Given the description of an element on the screen output the (x, y) to click on. 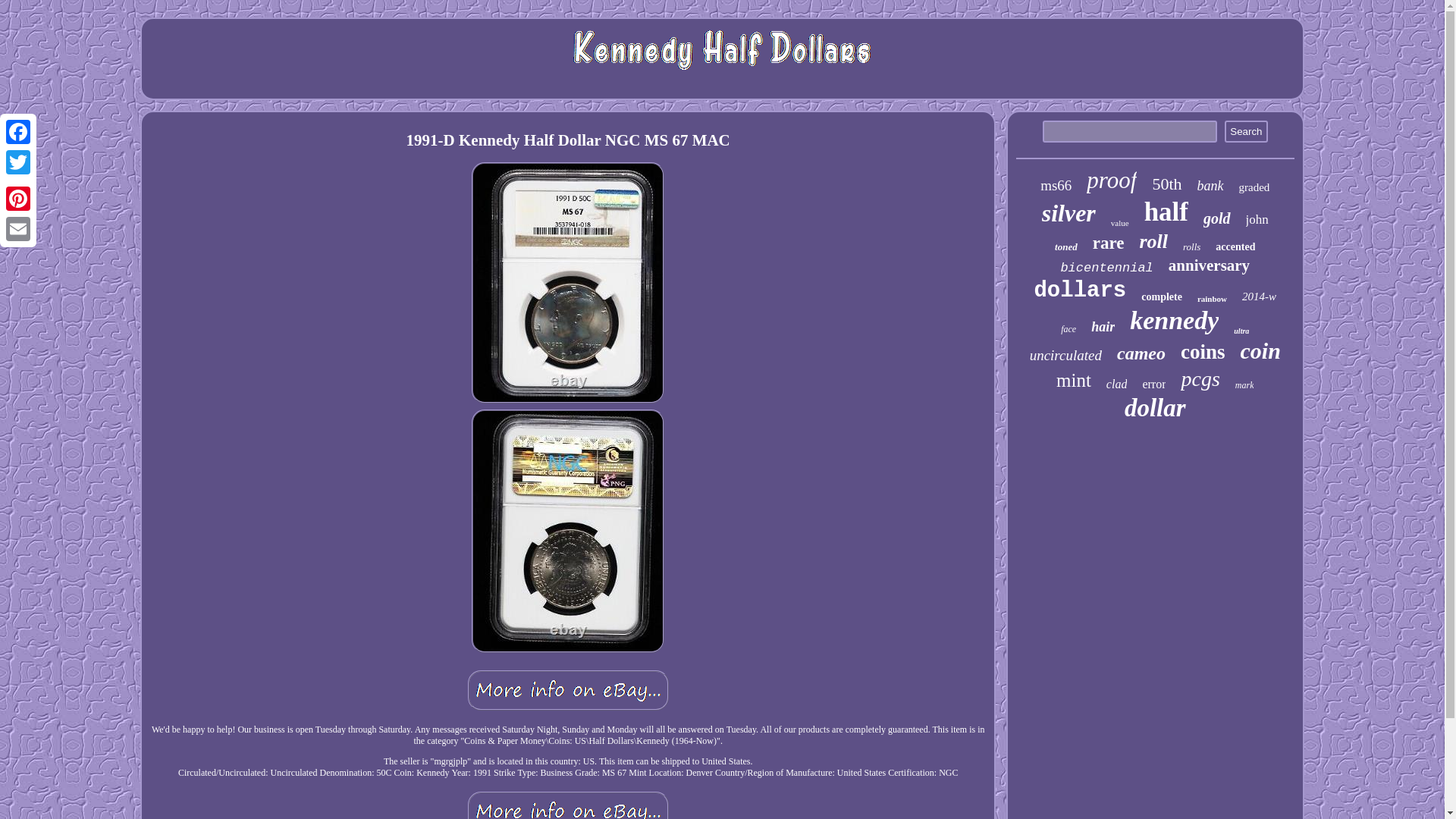
roll (1152, 241)
graded (1254, 187)
1991-D Kennedy Half Dollar NGC MS 67 MAC (567, 690)
2014-w (1258, 296)
rainbow (1211, 298)
Email (17, 228)
bank (1210, 186)
50th (1165, 184)
half (1166, 212)
rolls (1190, 246)
proof (1111, 180)
Pinterest (17, 198)
silver (1069, 213)
ms66 (1056, 185)
bicentennial (1106, 268)
